Given the description of an element on the screen output the (x, y) to click on. 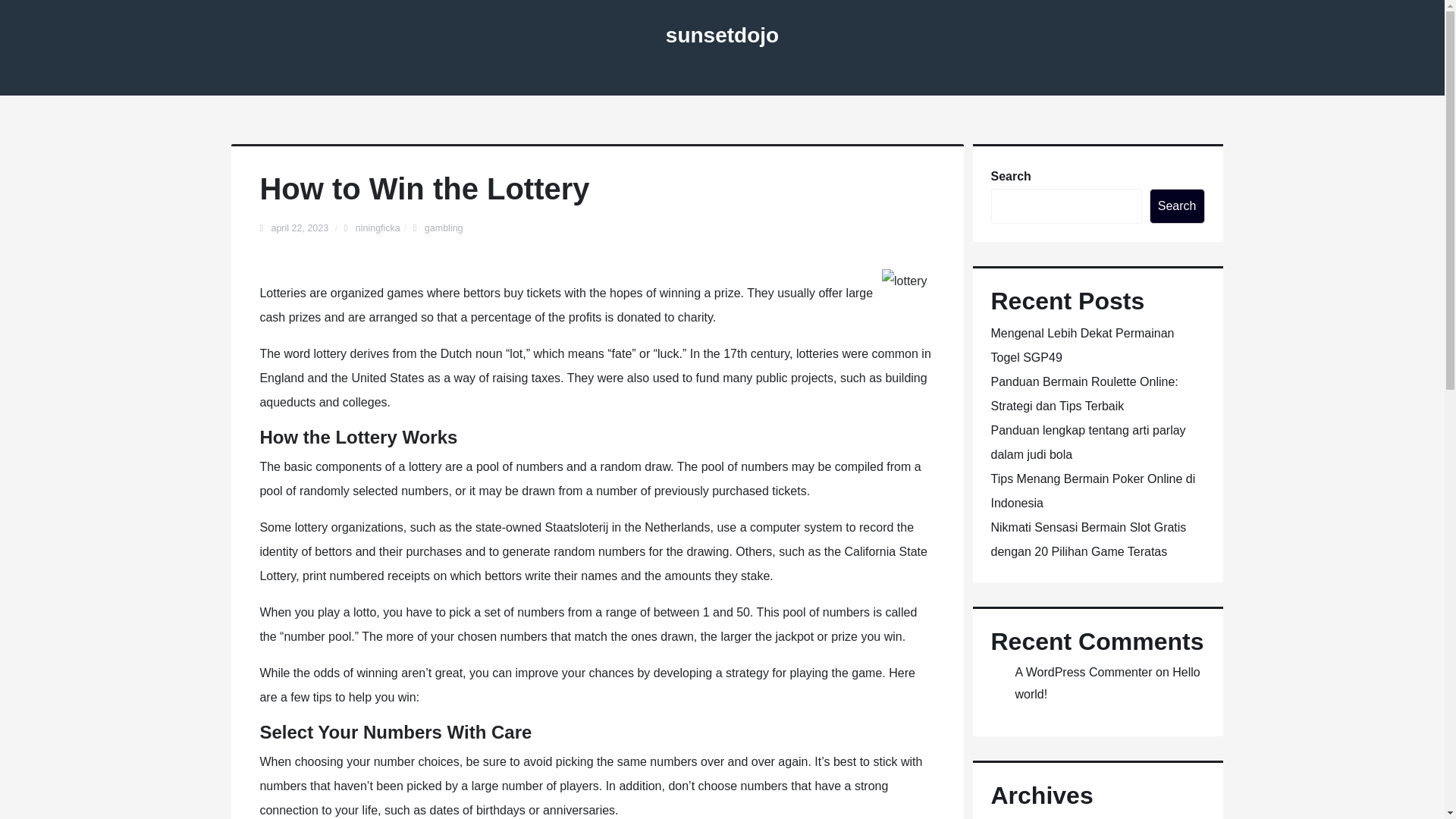
Hello world! (1106, 683)
Mengenal Lebih Dekat Permainan Togel SGP49 (1081, 344)
Tips Menang Bermain Poker Online di Indonesia (1092, 490)
sunsetdojo (721, 34)
april 22, 2023 (300, 227)
Search (1177, 206)
Panduan lengkap tentang arti parlay dalam judi bola (1087, 442)
A WordPress Commenter (1082, 671)
gambling (444, 227)
